Given the description of an element on the screen output the (x, y) to click on. 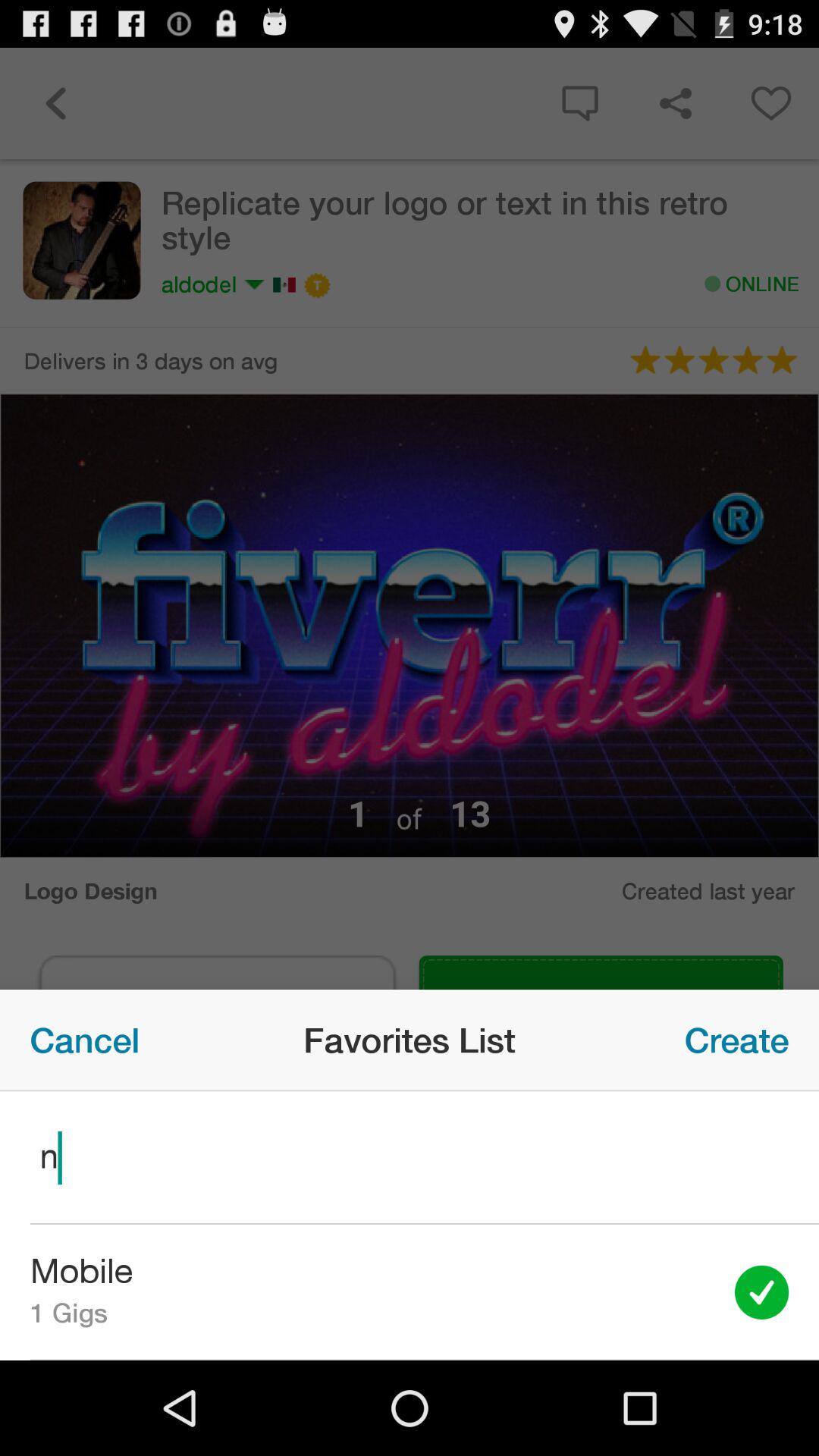
select the create item (736, 1039)
